Given the description of an element on the screen output the (x, y) to click on. 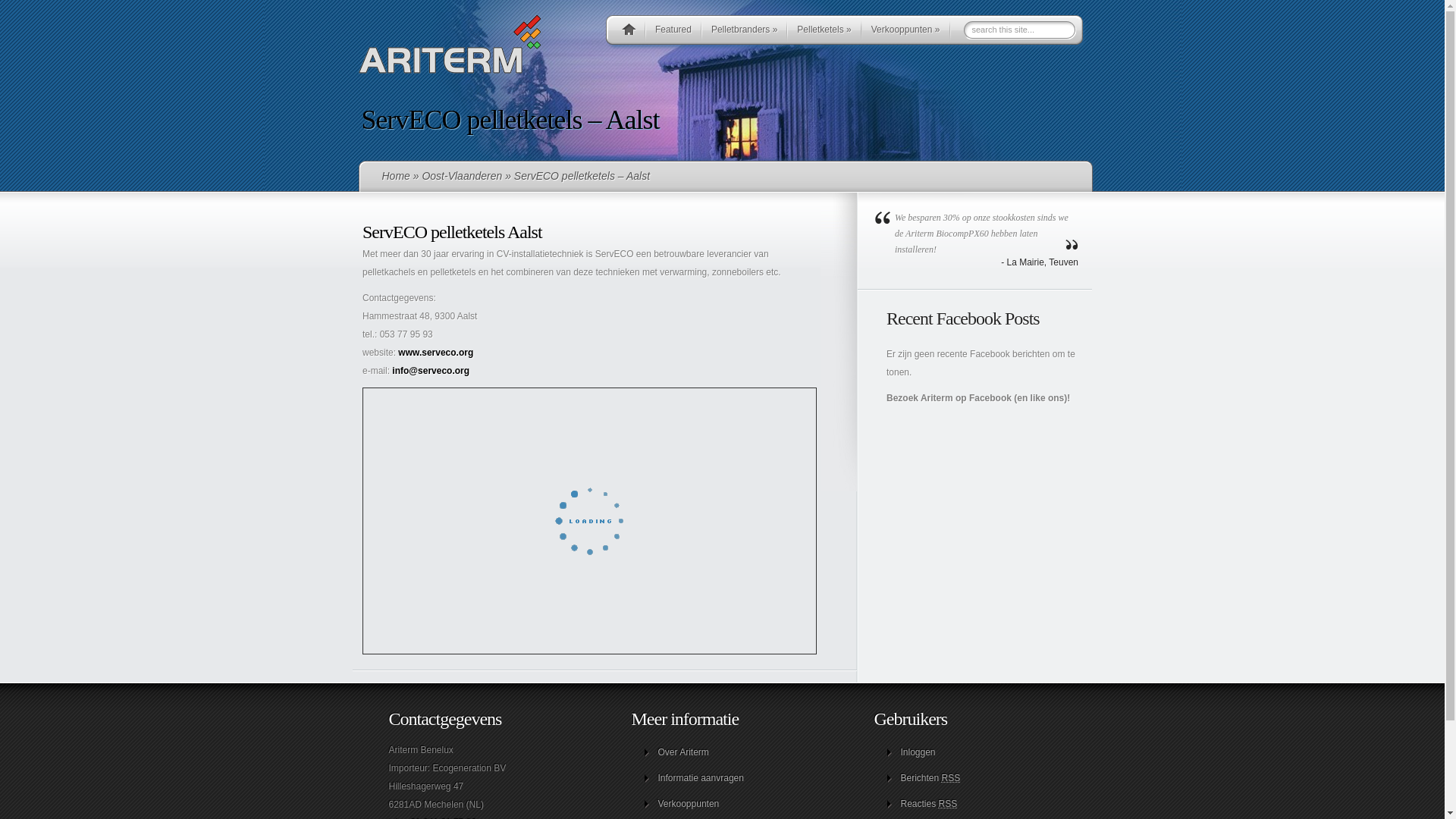
info@serveco.org Element type: text (430, 370)
Informatie aanvragen Element type: text (700, 777)
Over Ariterm Element type: text (683, 751)
Inloggen Element type: text (917, 751)
Home Element type: text (629, 31)
Verkooppunten Element type: text (688, 803)
Home Element type: text (396, 175)
www.serveco.org Element type: text (435, 352)
Reacties RSS Element type: text (928, 803)
Bezoek Ariterm op Facebook (en like ons)! Element type: text (978, 397)
Oost-Vlaanderen Element type: text (461, 175)
Featured Element type: text (672, 31)
Berichten RSS Element type: text (930, 777)
